Given the description of an element on the screen output the (x, y) to click on. 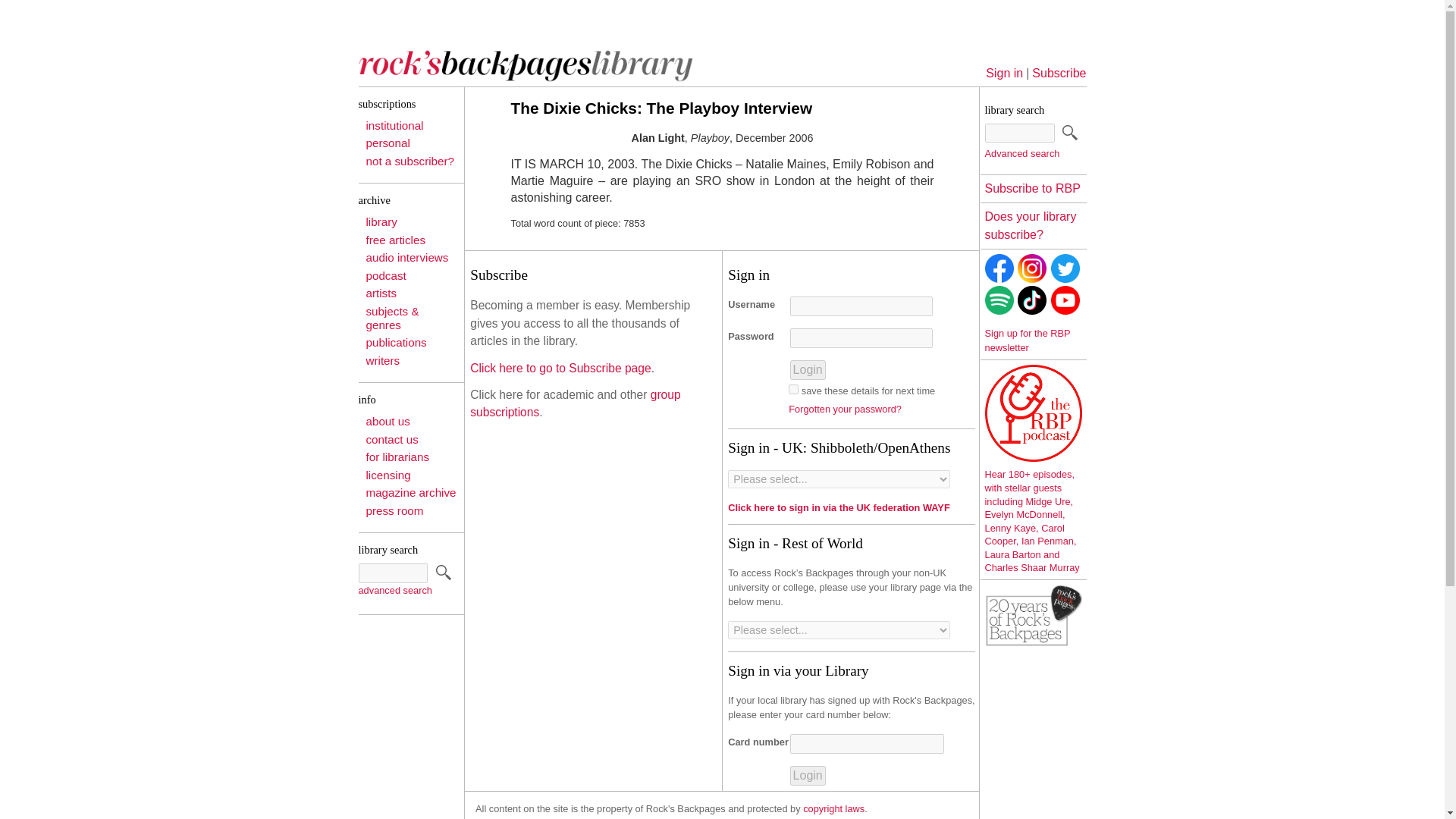
audio interviews (406, 256)
Subscribe (1059, 72)
free articles (395, 239)
Login (807, 775)
not a subscriber? (409, 160)
library (380, 221)
institutional (394, 124)
Login (807, 370)
true (793, 388)
Sign in (1004, 72)
